Given the description of an element on the screen output the (x, y) to click on. 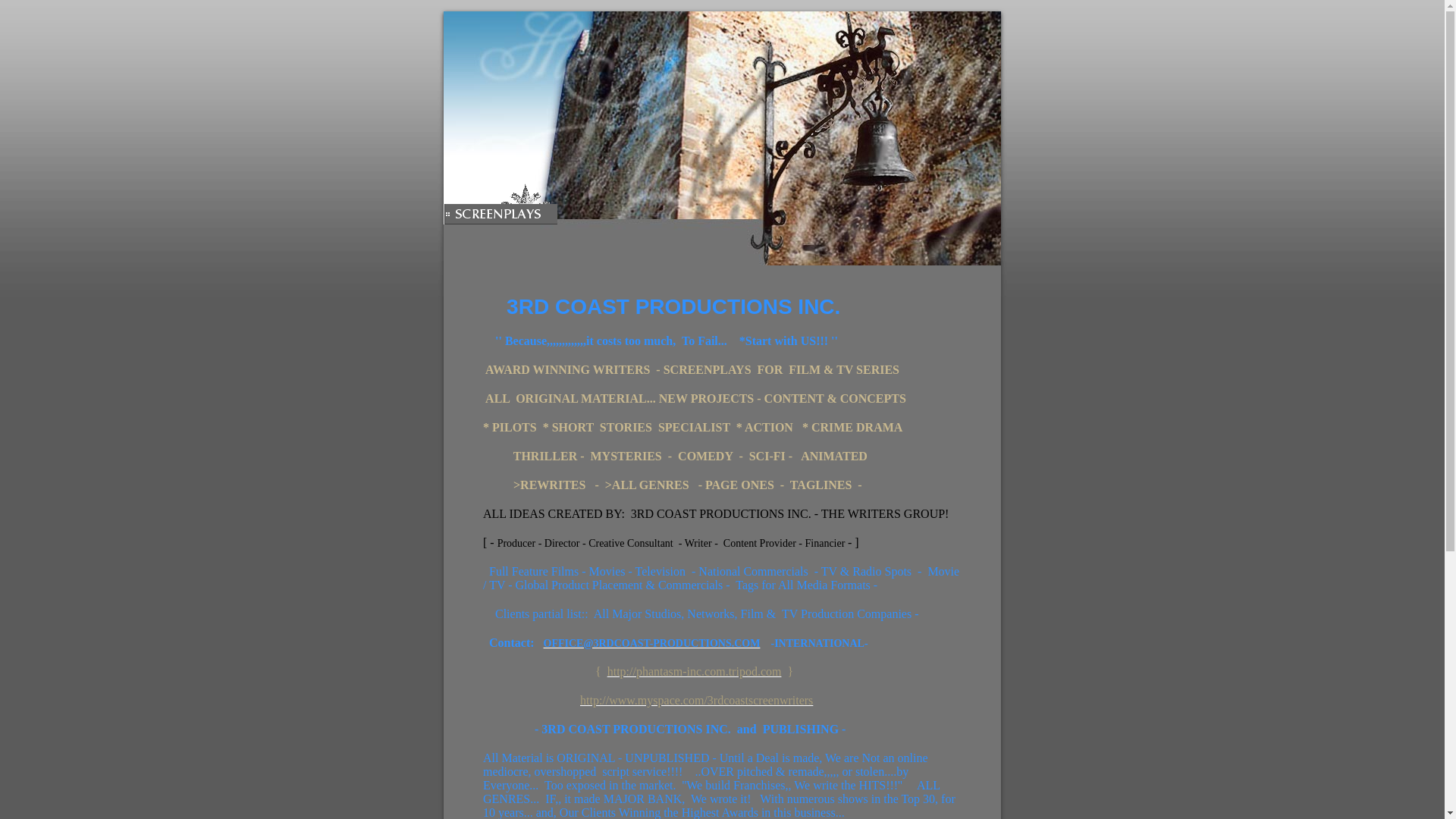
http://www.myspace.com/3rdcoastscreenwriters Element type: text (696, 699)
OFFICE@3RDCOAST-PRODUCTIONS.COM Element type: text (651, 642)
http://phantasm-inc.com.tripod.com Element type: text (694, 671)
